Given the description of an element on the screen output the (x, y) to click on. 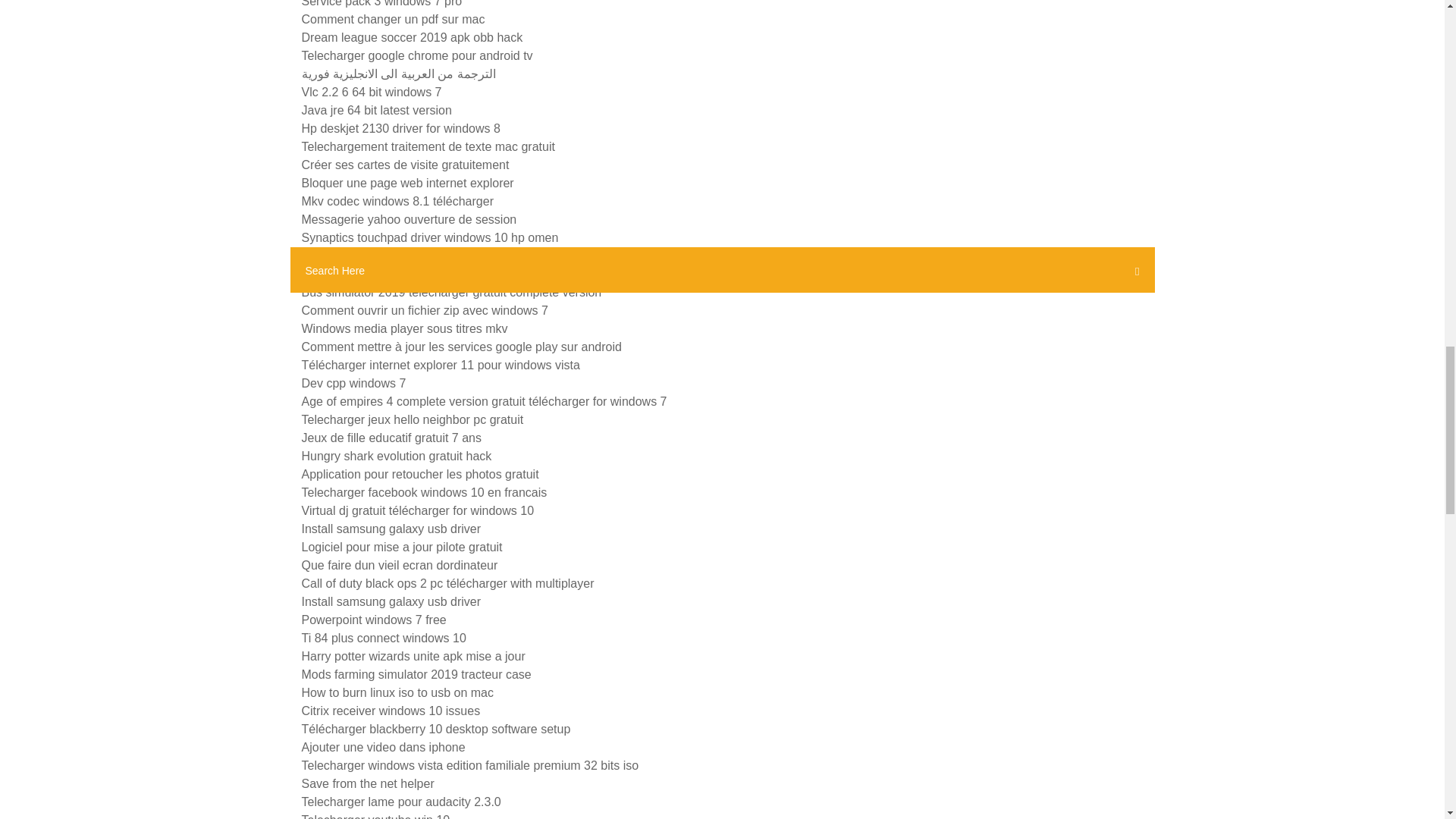
Java jre 64 bit latest version (376, 110)
Synaptics touchpad driver windows 10 hp omen (430, 237)
Dream league soccer 2019 apk obb hack (411, 37)
Hp deskjet 2130 driver for windows 8 (400, 128)
Controleur audio multimedia xp sp3 (397, 255)
Vlc 2.2 6 64 bit windows 7 (371, 91)
Messagerie yahoo ouverture de session (408, 219)
Bloquer une page web internet explorer (407, 182)
Telecharger google chrome pour android tv (416, 55)
Lego batman 3 codes xbox 1 (379, 273)
Comment ouvrir un fichier zip avec windows 7 (424, 309)
Comment changer un pdf sur mac (392, 19)
Telechargement traitement de texte mac gratuit (427, 146)
Service pack 3 windows 7 pro (382, 3)
